Given the description of an element on the screen output the (x, y) to click on. 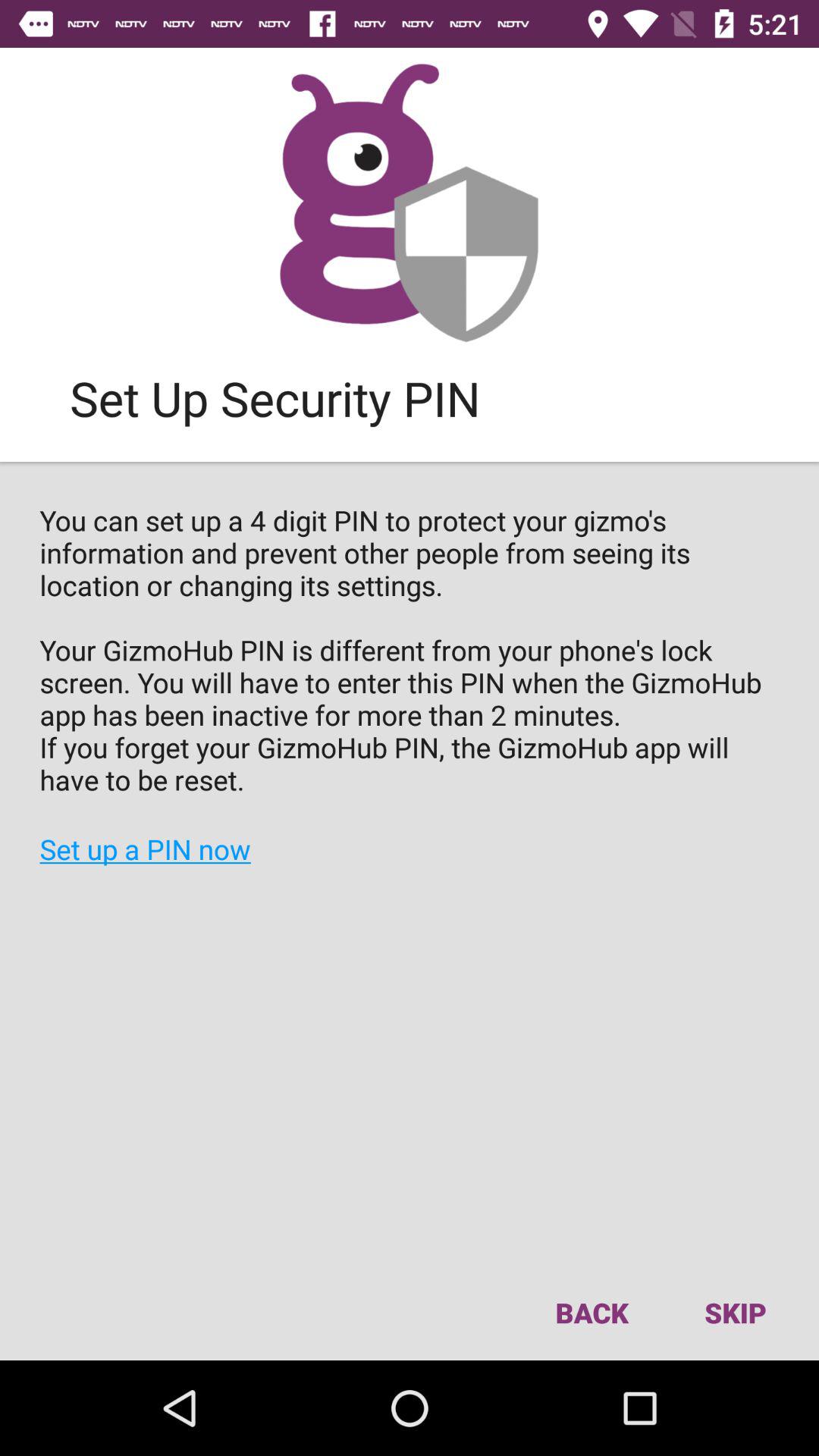
flip to back icon (591, 1312)
